Given the description of an element on the screen output the (x, y) to click on. 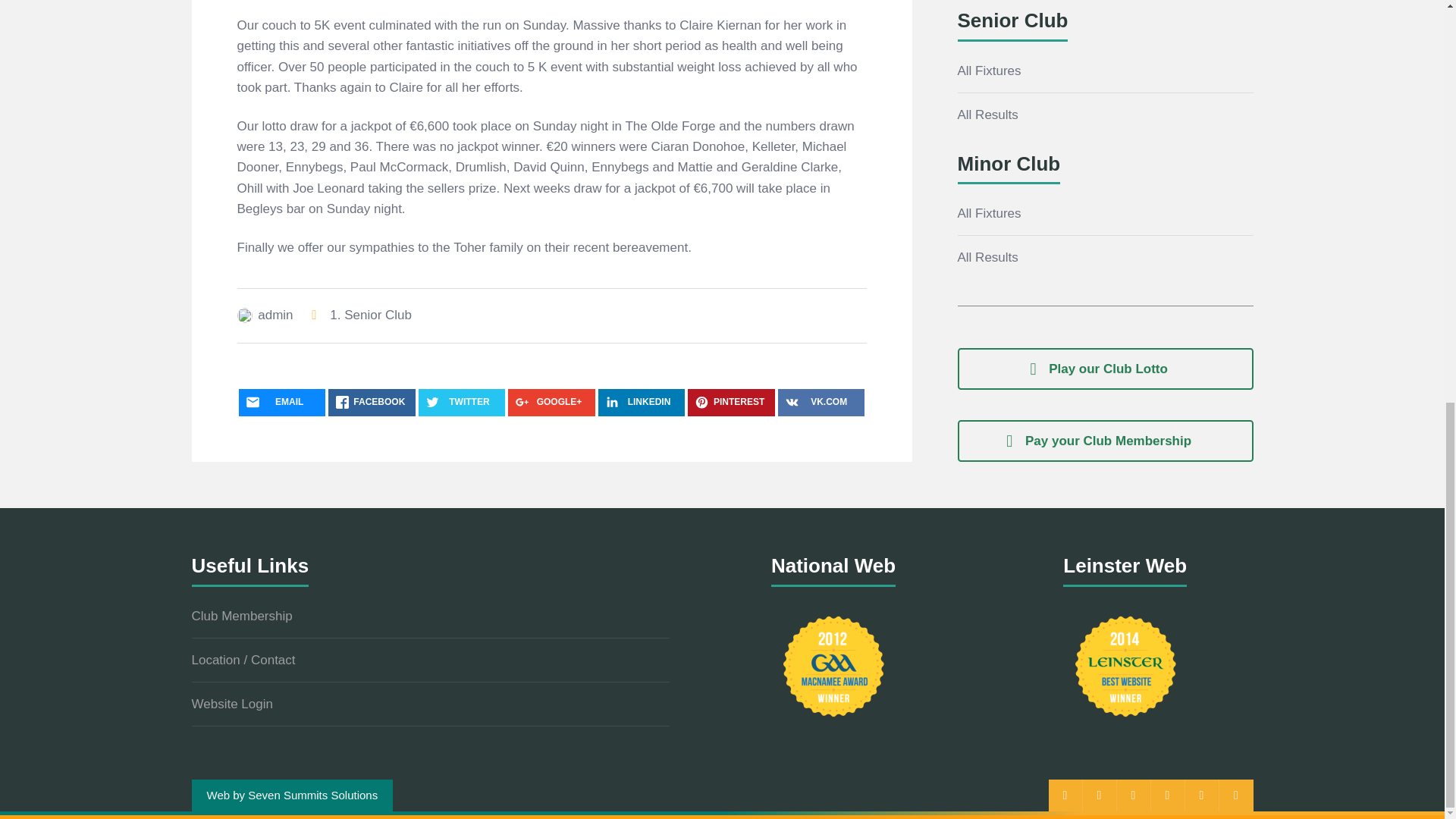
Leinster Web (1125, 666)
National Web (832, 666)
